Given the description of an element on the screen output the (x, y) to click on. 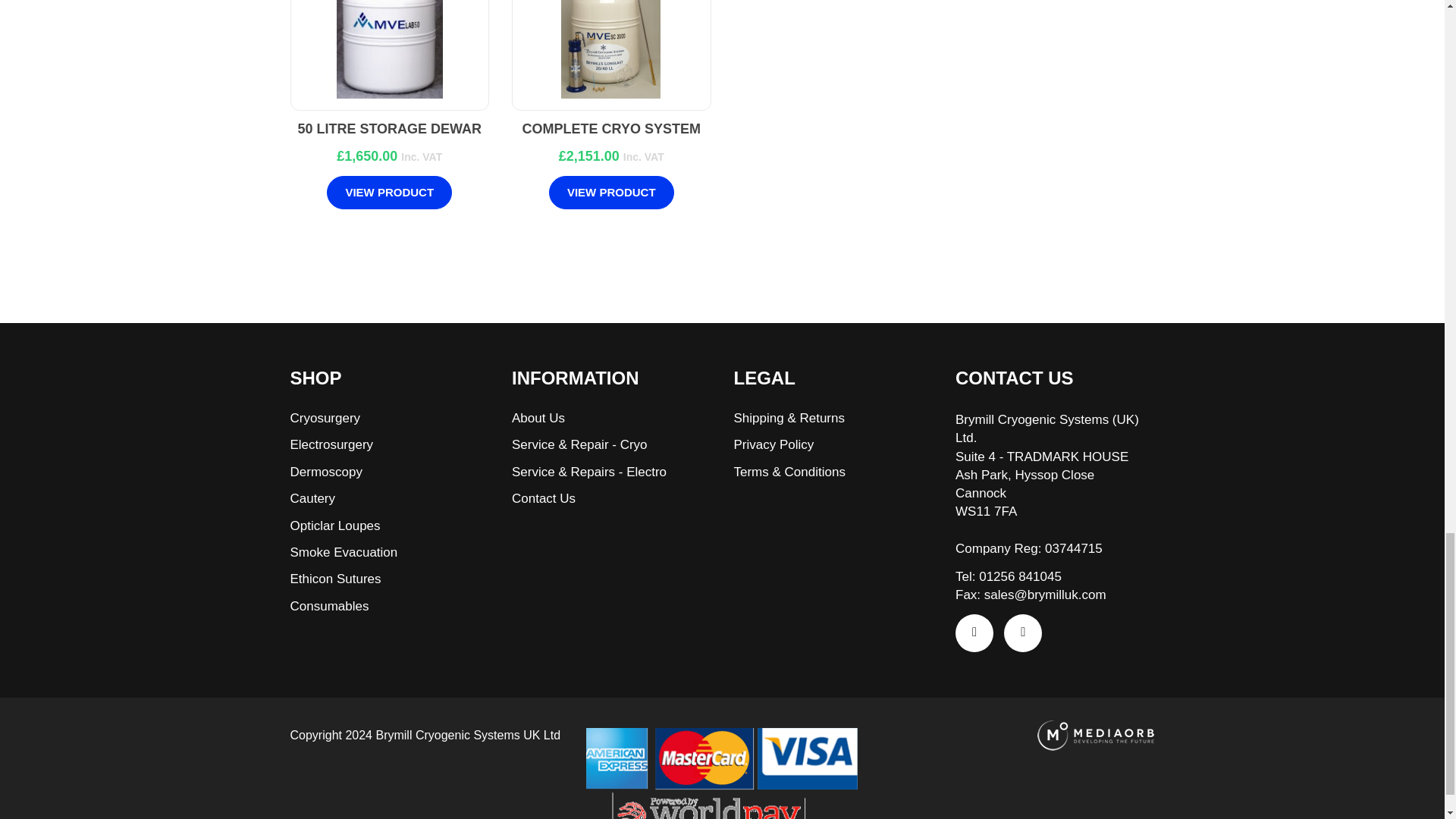
Complete Cryo system (611, 49)
50 Litre Storage Dewar (389, 49)
